Given the description of an element on the screen output the (x, y) to click on. 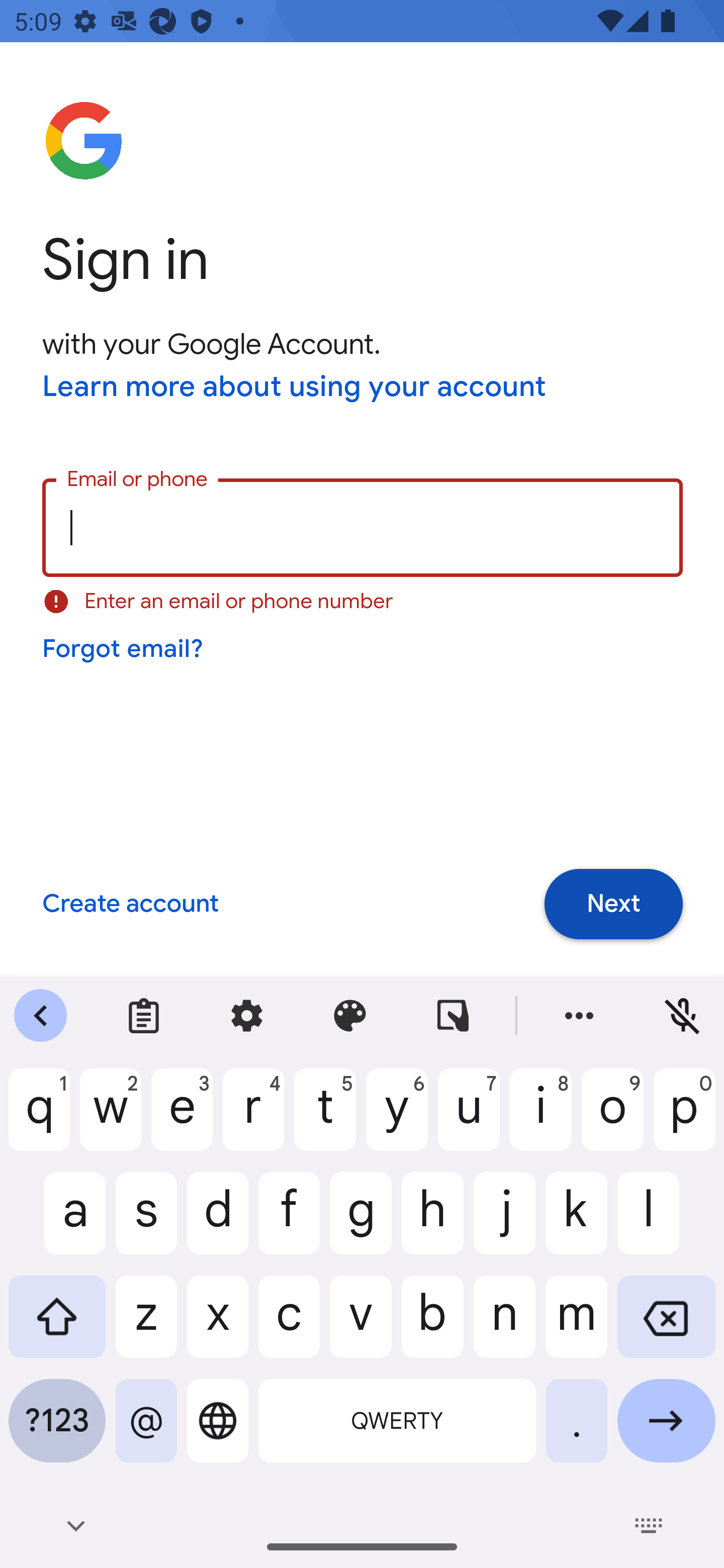
Learn more about using your account (294, 388)
Forgot email? (123, 648)
Create account (129, 904)
Next (613, 904)
